Given the description of an element on the screen output the (x, y) to click on. 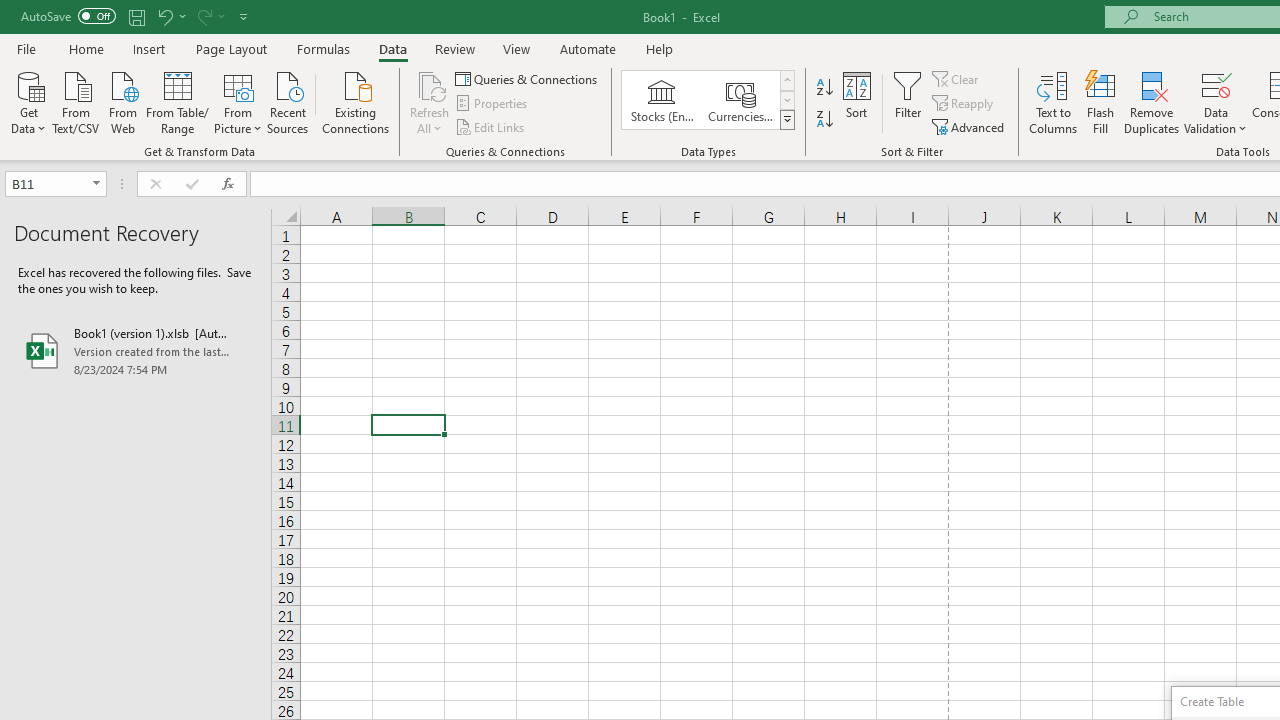
Sort Z to A (824, 119)
From Picture (238, 101)
Sort A to Z (824, 87)
Recent Sources (287, 101)
Currencies (English) (740, 100)
Filter (908, 102)
Edit Links (491, 126)
